Given the description of an element on the screen output the (x, y) to click on. 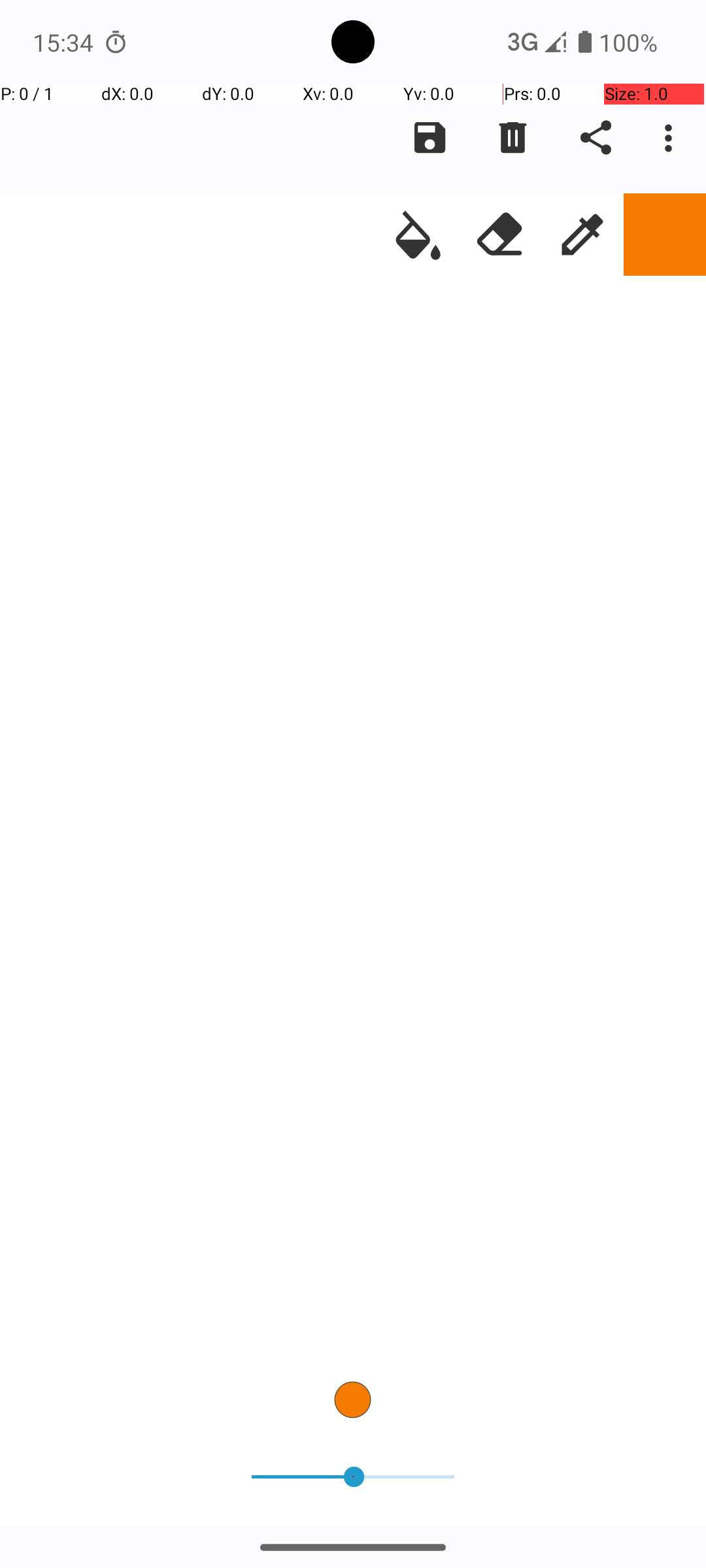
Clear Element type: android.widget.Button (512, 137)
Bucket fill Element type: android.widget.ImageView (417, 234)
Eraser Element type: android.widget.ImageView (499, 234)
Eyedropper Element type: android.widget.ImageView (582, 234)
Change color Element type: android.widget.ImageView (664, 234)
